Given the description of an element on the screen output the (x, y) to click on. 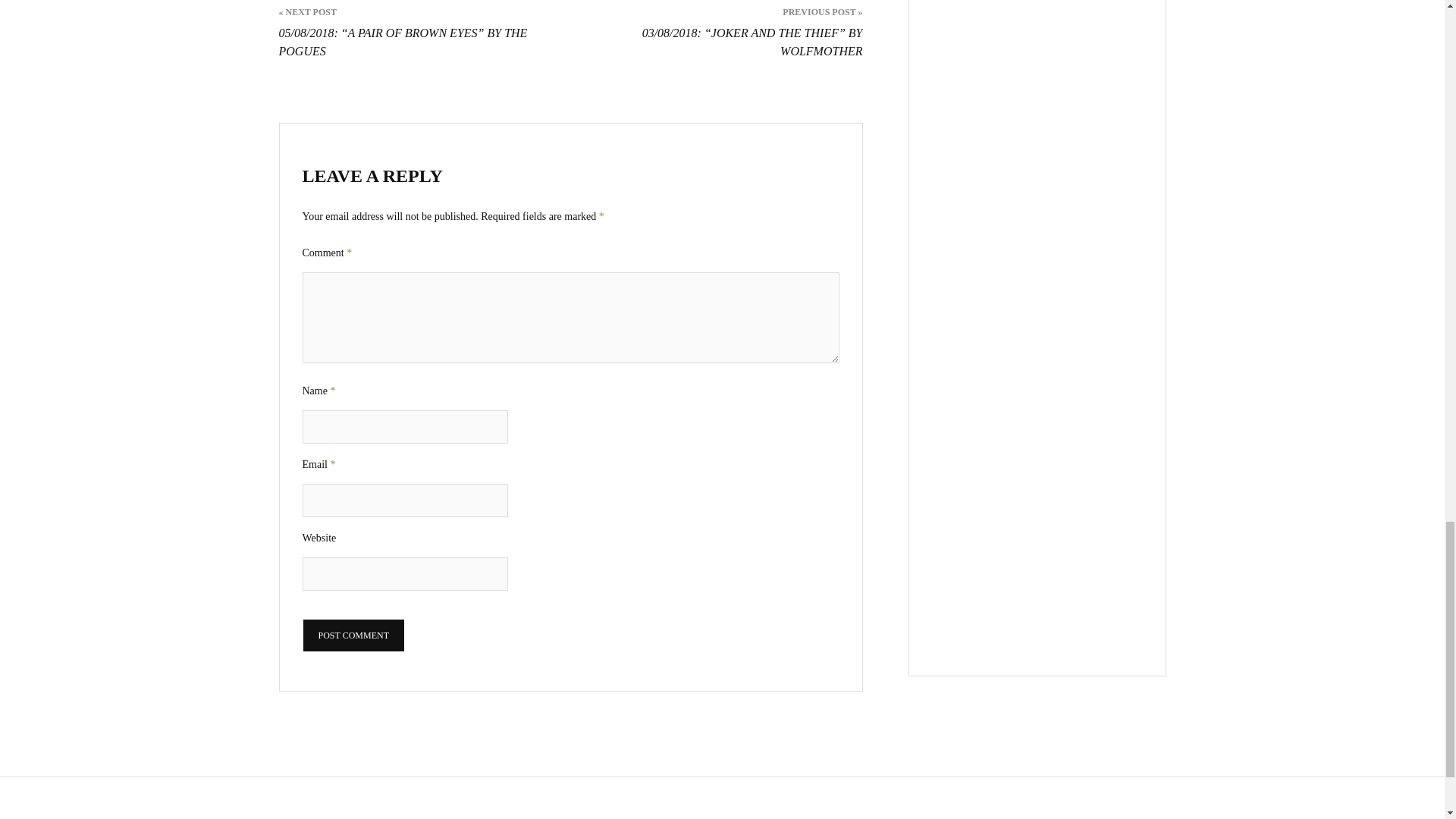
Post Comment (352, 635)
Post Comment (352, 635)
